Given the description of an element on the screen output the (x, y) to click on. 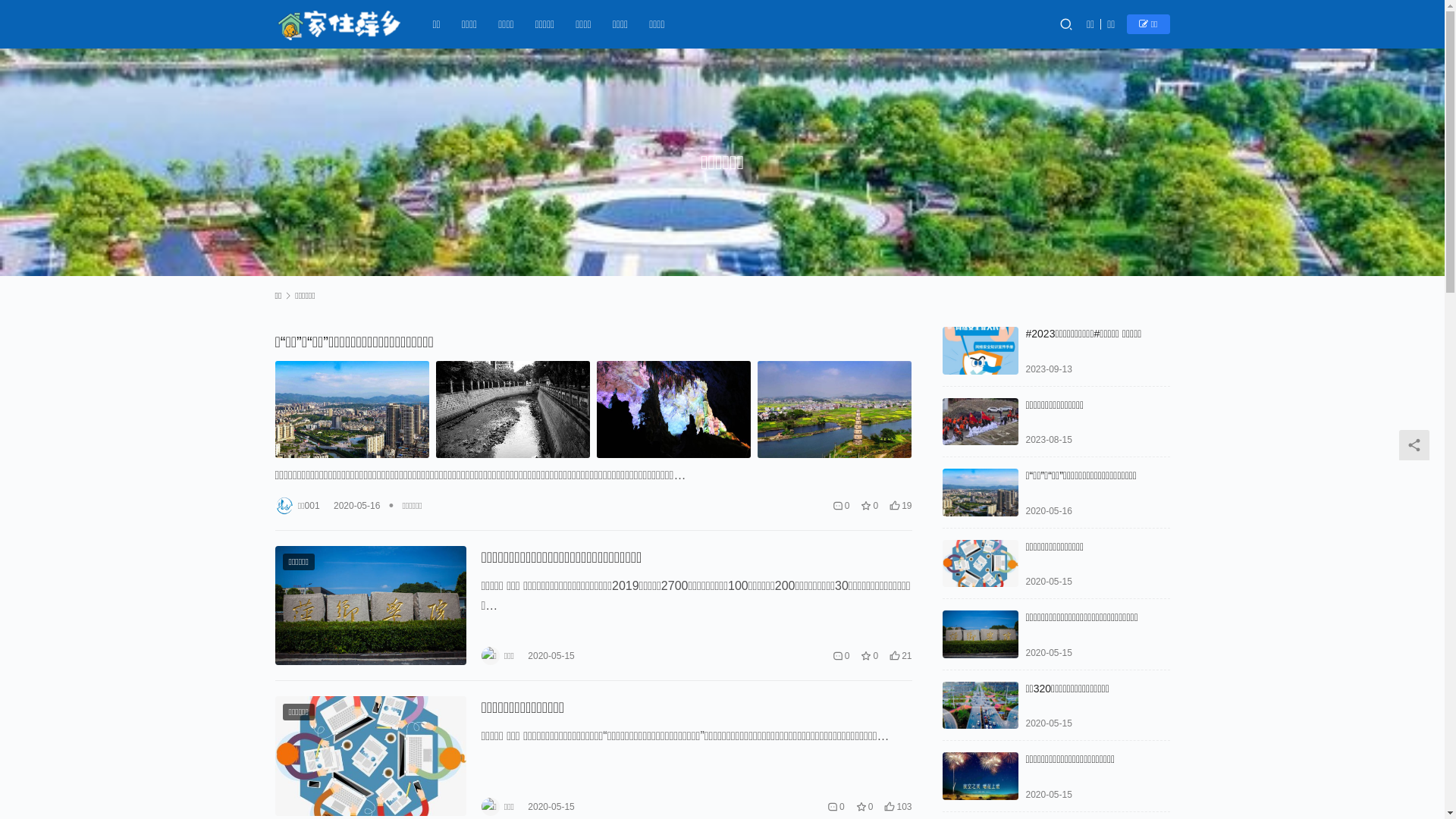
0 Element type: text (841, 504)
0 Element type: text (841, 655)
0 Element type: text (835, 806)
